Given the description of an element on the screen output the (x, y) to click on. 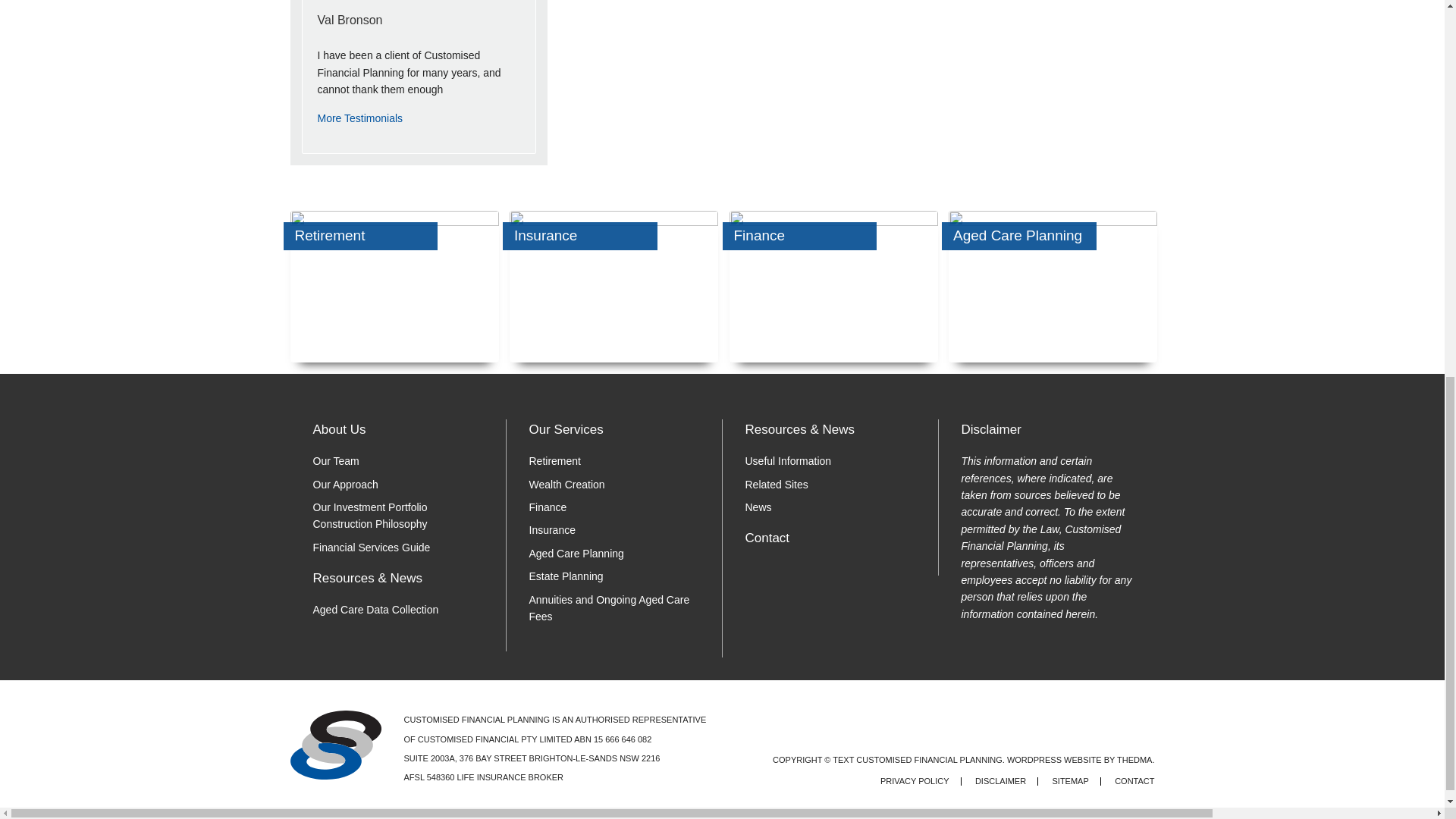
Val Bronson (349, 19)
Our Approach (345, 484)
Insurance (580, 235)
More Testimonials (360, 118)
Aged Care Planning (1019, 235)
Finance (833, 286)
Our Investment Portfolio Construction Philosophy (369, 515)
Insurance (613, 286)
Finance (799, 235)
Retirement (360, 235)
